Given the description of an element on the screen output the (x, y) to click on. 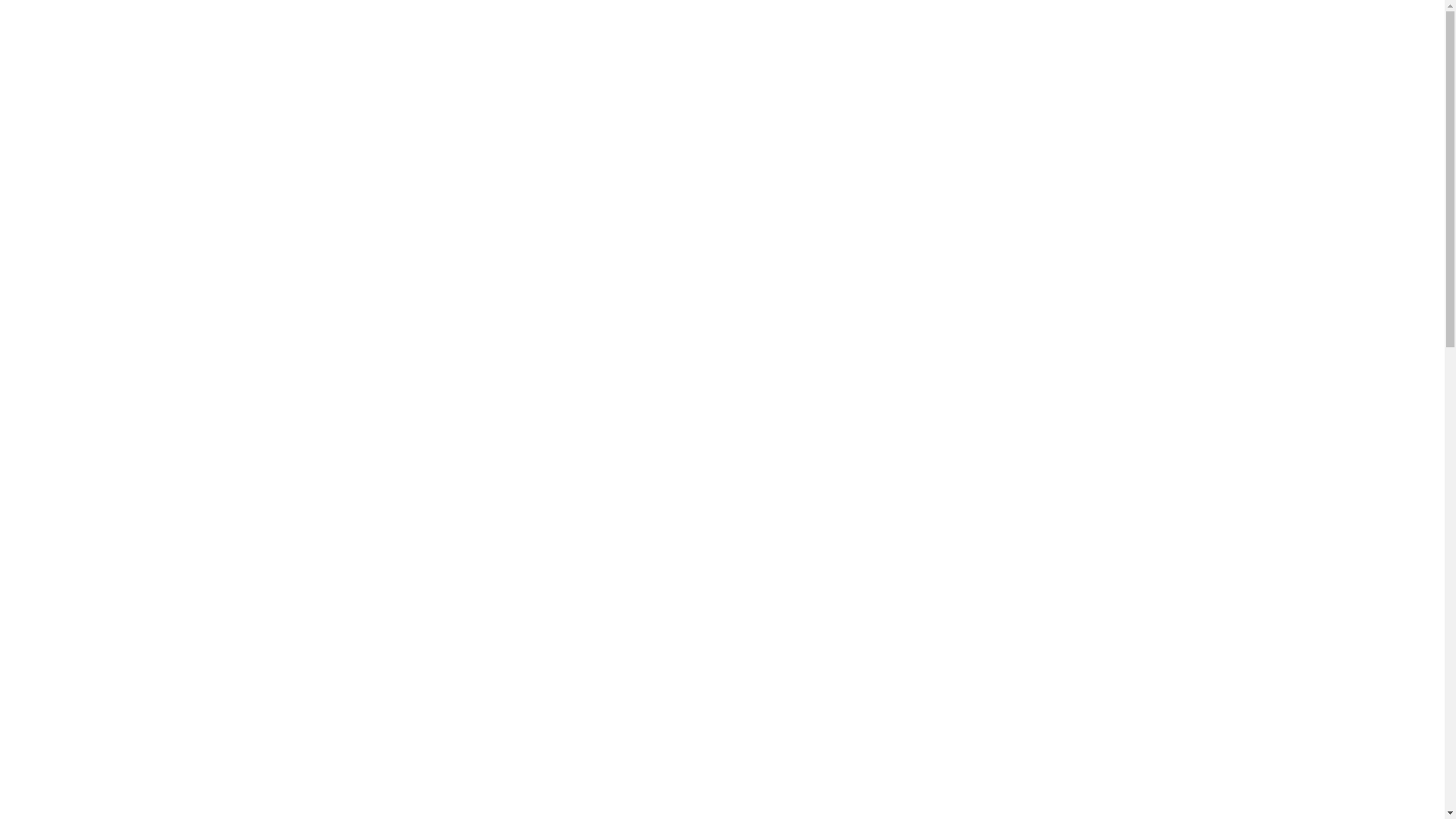
Aller au contenu Element type: text (11, 31)
